Given the description of an element on the screen output the (x, y) to click on. 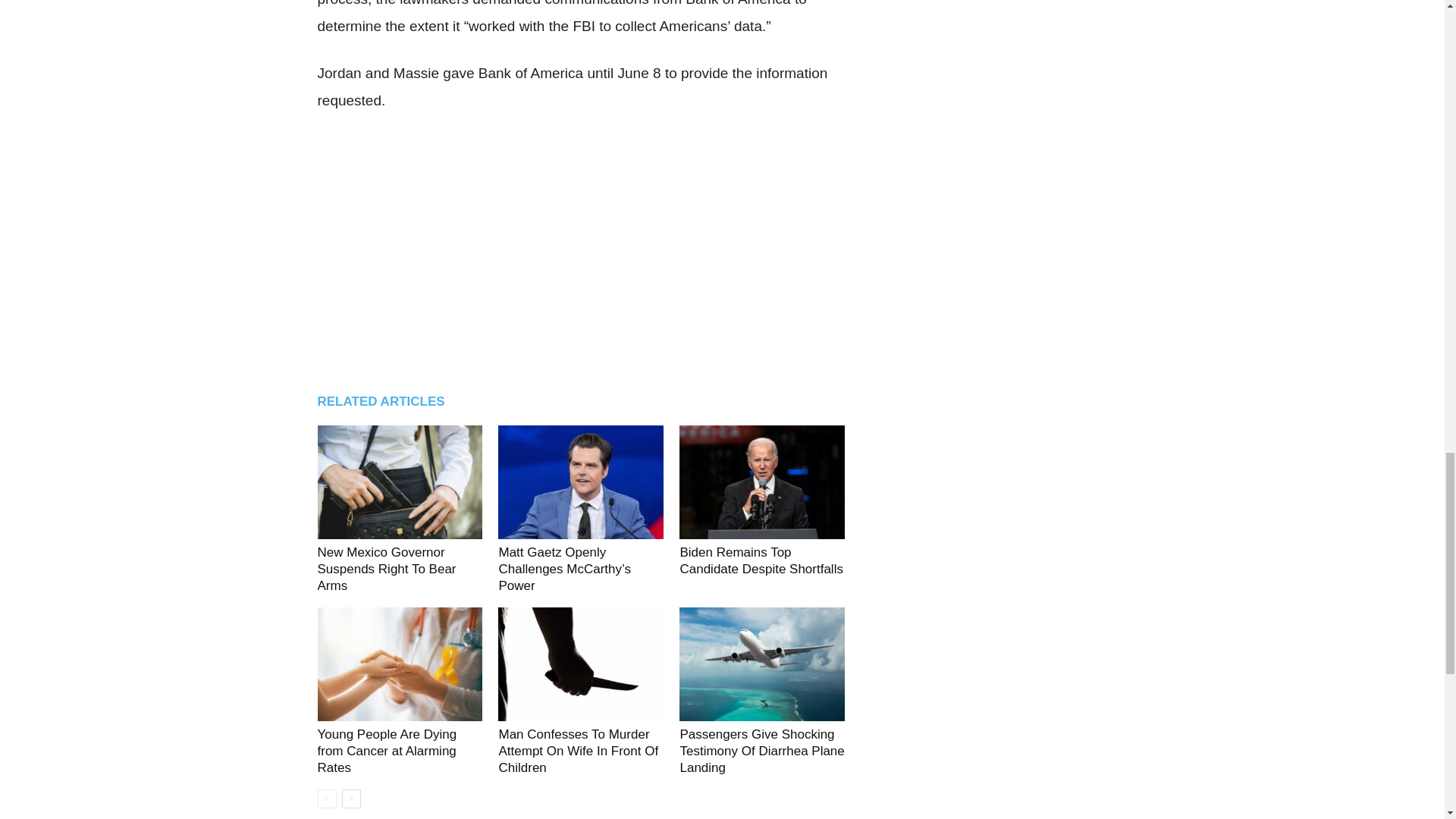
Man Confesses To Murder Attempt On Wife In Front Of Children (577, 750)
Biden Remains Top Candidate Despite Shortfalls (761, 481)
New Mexico Governor Suspends Right To Bear Arms (399, 481)
Young People Are Dying from Cancer at Alarming Rates (387, 750)
Passengers Give Shocking Testimony Of Diarrhea Plane Landing (761, 750)
RELATED ARTICLES (388, 401)
New Mexico Governor Suspends Right To Bear Arms (386, 568)
Biden Remains Top Candidate Despite Shortfalls (761, 560)
New Mexico Governor Suspends Right To Bear Arms (386, 568)
Advertisement (580, 247)
